Given the description of an element on the screen output the (x, y) to click on. 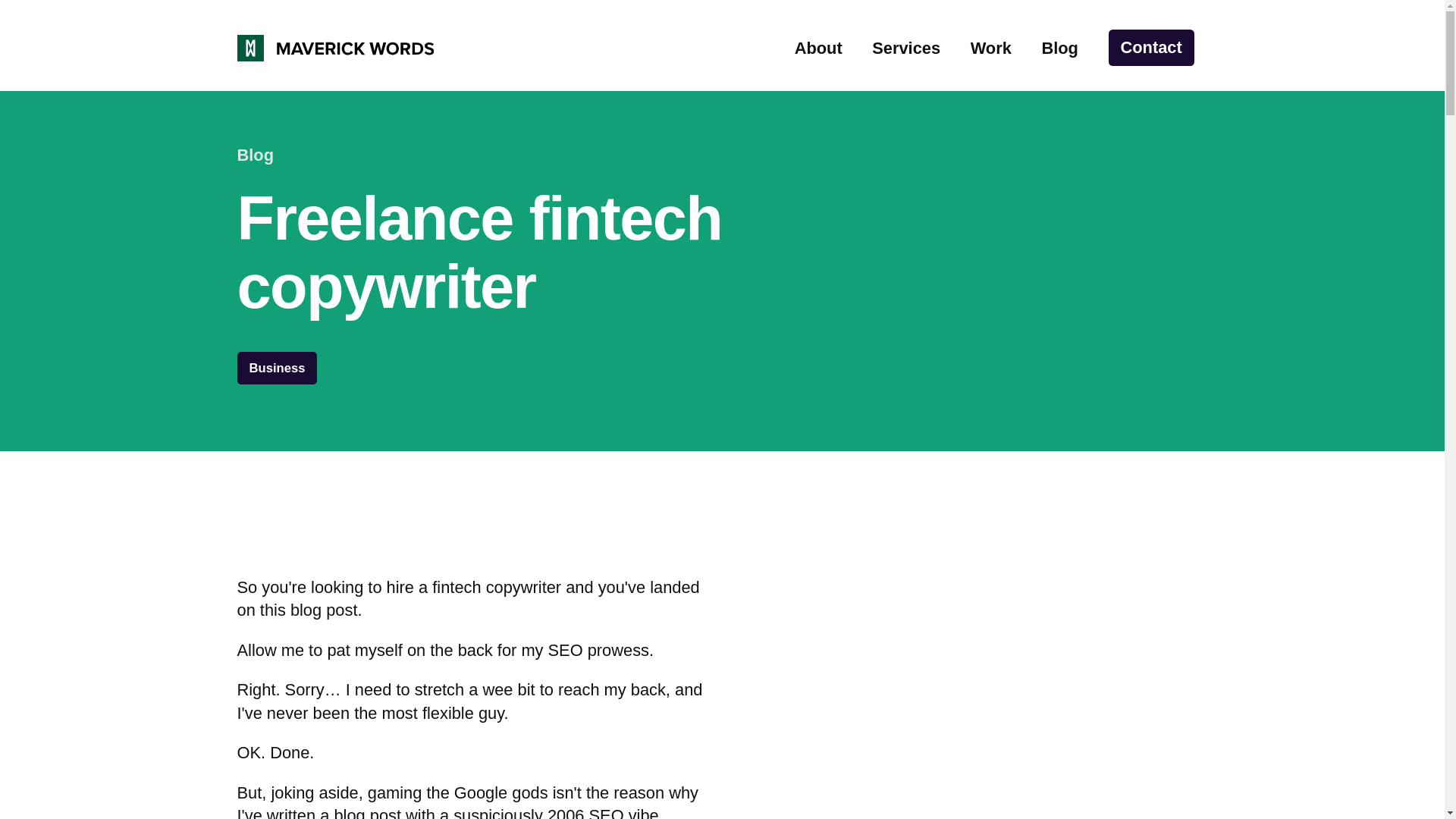
Contact (1150, 47)
Work (991, 47)
Services (906, 47)
Expert fintech copywriting from Maverick Words. (334, 48)
Blog (1059, 47)
About (818, 47)
Expert fintech copywriting from Maverick Words. (334, 48)
home (334, 48)
Business (276, 368)
